Given the description of an element on the screen output the (x, y) to click on. 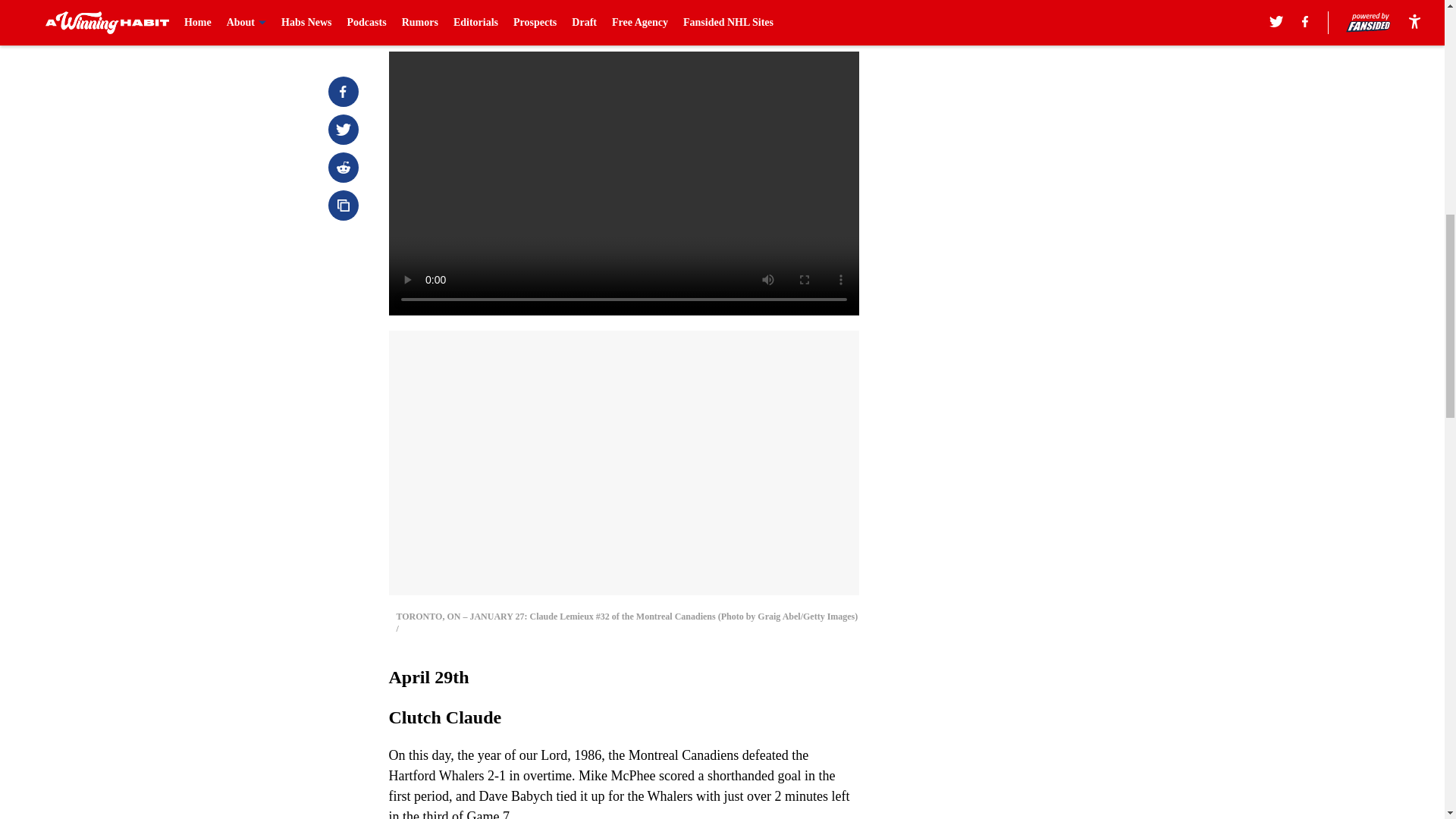
Prev (433, 20)
3rd party ad content (1047, 320)
Next (813, 20)
3rd party ad content (1047, 100)
